Given the description of an element on the screen output the (x, y) to click on. 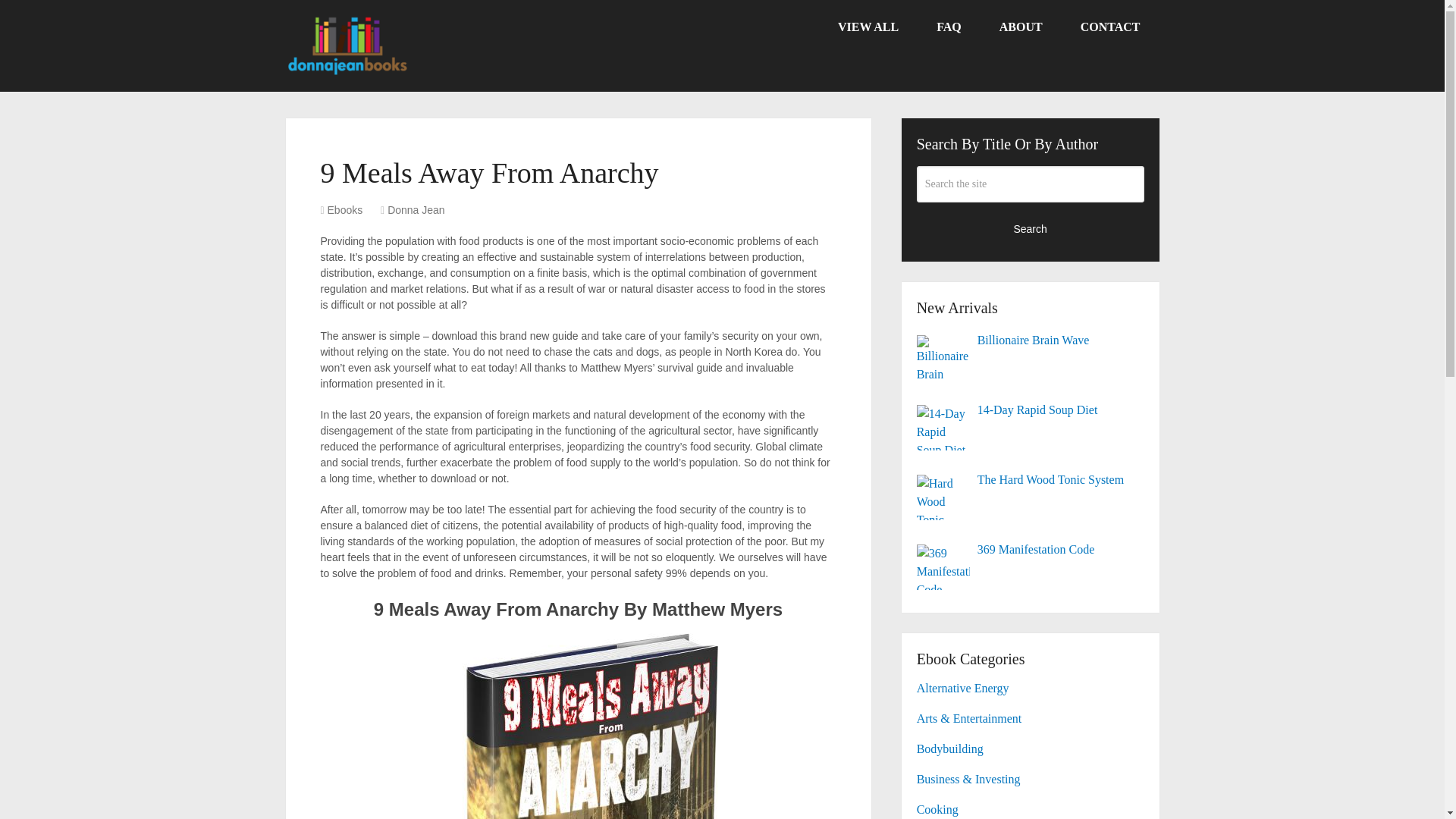
Frequently Asked Questions (948, 27)
369 Manifestation Code (1030, 549)
14-Day Rapid Soup Diet (1030, 410)
CONTACT (1109, 27)
Posts by Donna Jean (416, 209)
FAQ (948, 27)
Billionaire Brain Wave (1030, 340)
Ebooks (344, 209)
Browse All Ebooks (867, 27)
Cooking (937, 809)
